Given the description of an element on the screen output the (x, y) to click on. 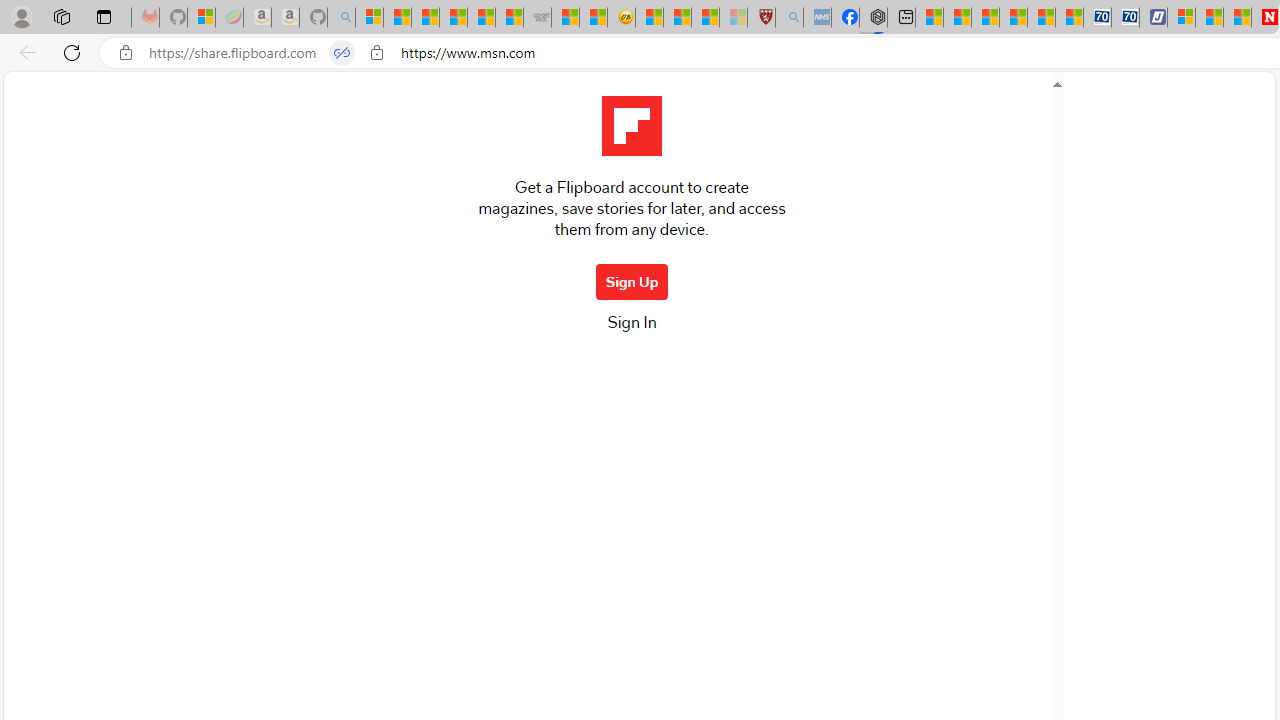
Tabs in split screen (341, 53)
The Weather Channel - MSN (425, 17)
Class: logo (631, 125)
